Given the description of an element on the screen output the (x, y) to click on. 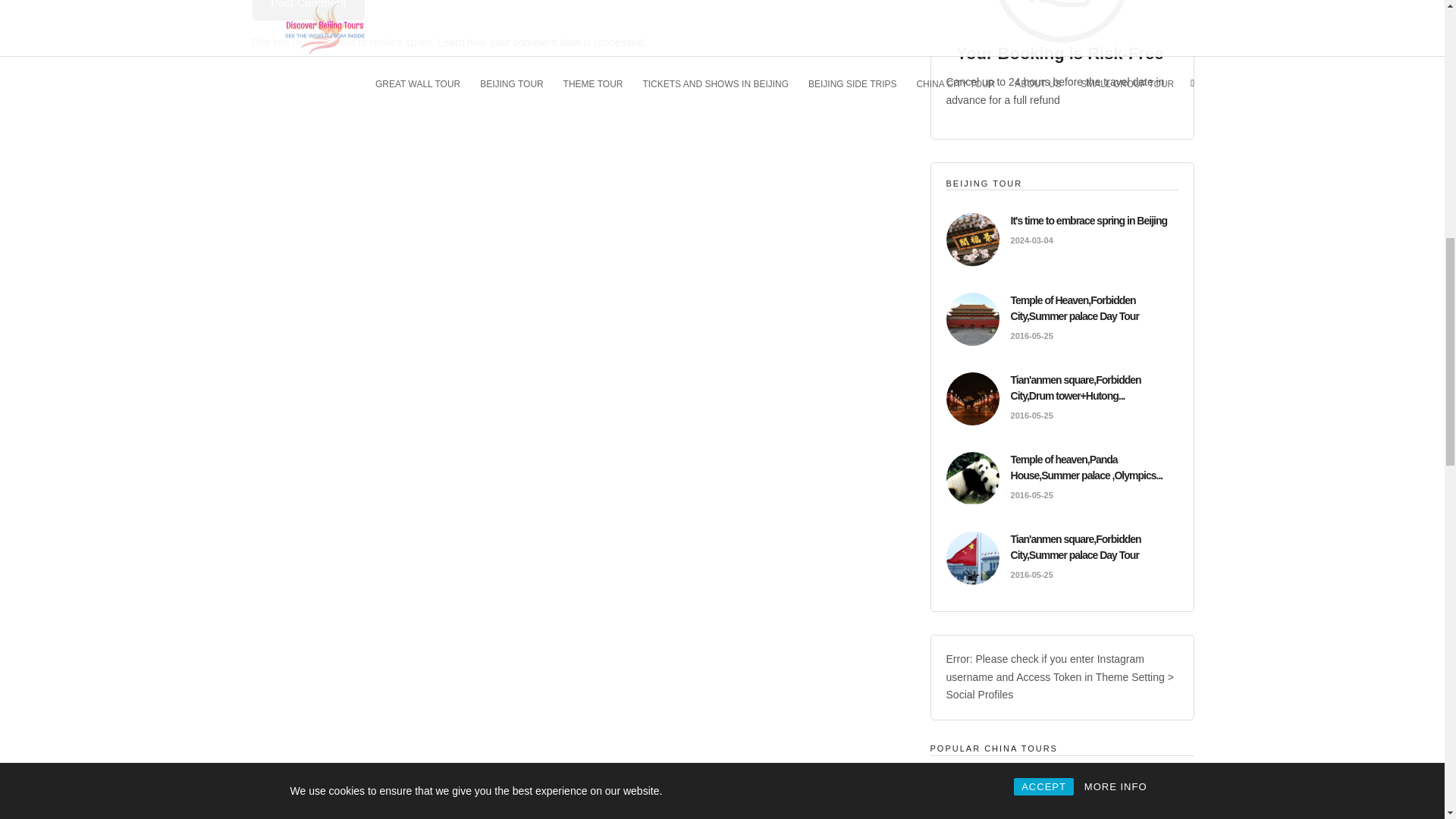
Post Comment (308, 10)
Learn how your comment data is processed (540, 42)
It's time to embrace spring in Beijing (1088, 220)
Post Comment (308, 10)
Temple of heaven,Panda House,Summer palace ,Olympics... (1086, 467)
Temple of Heaven,Forbidden City,Summer palace Day Tour (1074, 308)
